Given the description of an element on the screen output the (x, y) to click on. 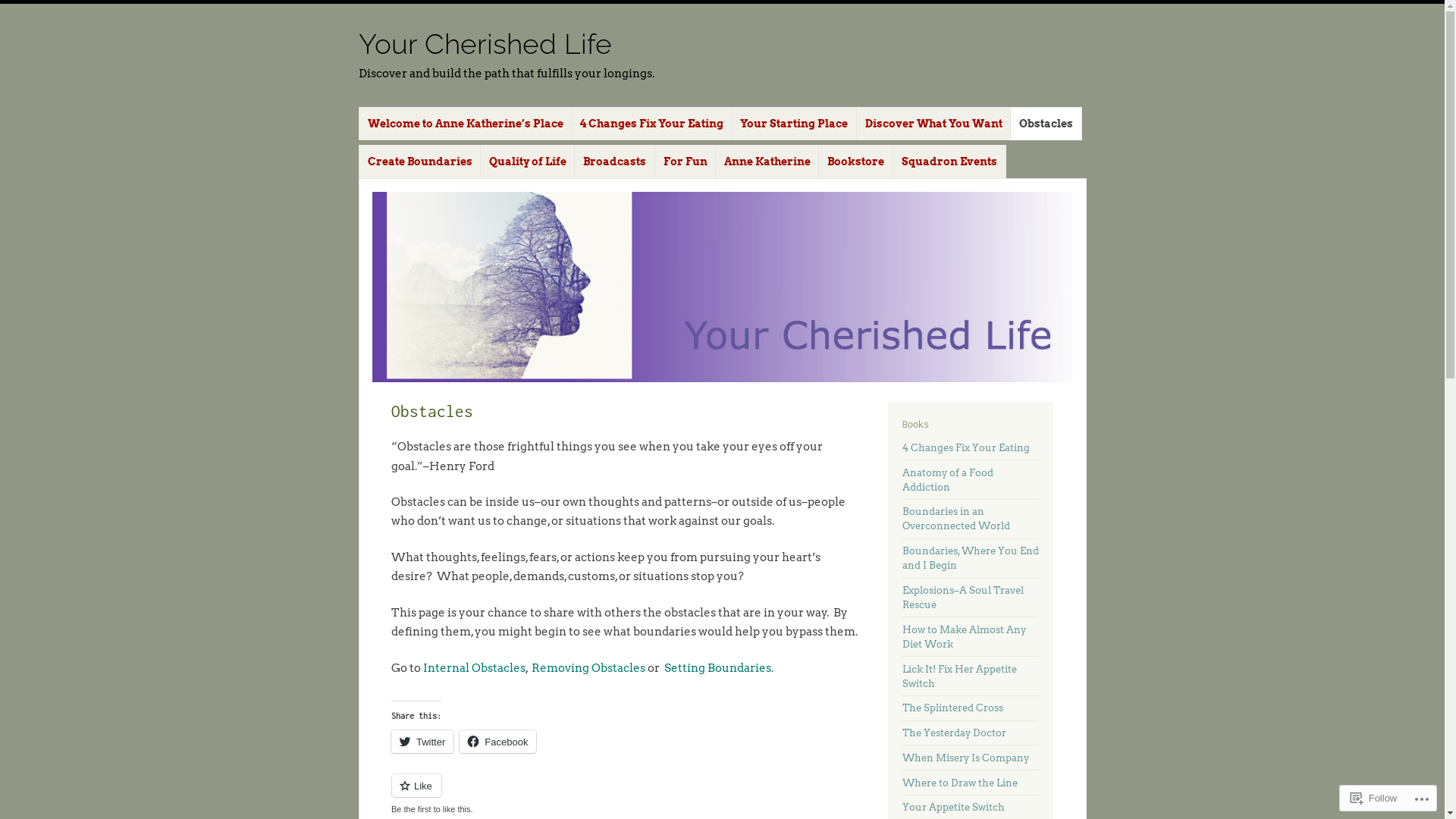
Search Element type: text (21, 9)
Lick It! Fix Her Appetite Switch Element type: text (959, 676)
Bookstore Element type: text (855, 161)
Facebook Element type: text (497, 741)
For Fun Element type: text (685, 161)
Create Boundaries Element type: text (418, 161)
Boundaries, Where You End and I Begin Element type: text (970, 558)
The Splintered Cross Element type: text (952, 707)
Your Cherished Life Element type: hover (721, 286)
Obstacles Element type: text (1046, 123)
Your Starting Place Element type: text (793, 123)
Boundaries in an Overconnected World Element type: text (956, 518)
Your Cherished Life Element type: text (484, 43)
When Misery Is Company Element type: text (965, 757)
Broadcasts Element type: text (614, 161)
Follow Element type: text (1373, 797)
Internal Obstacles Element type: text (474, 667)
How to Make Almost Any Diet Work Element type: text (964, 636)
4 Changes Fix Your Eating Element type: text (651, 123)
The Yesterday Doctor Element type: text (954, 732)
Removing Obstacles Element type: text (589, 667)
Anatomy of a Food Addiction Element type: text (947, 479)
Discover What You Want Element type: text (933, 123)
Your Appetite Switch Element type: text (953, 806)
Setting Boundaries. Element type: text (718, 667)
4 Changes Fix Your Eating Element type: text (965, 447)
Where to Draw the Line Element type: text (959, 782)
Squadron Events Element type: text (949, 161)
Quality of Life Element type: text (527, 161)
Anne Katherine Element type: text (767, 161)
Like or Reblog Element type: hover (624, 794)
Twitter Element type: text (422, 741)
